Given the description of an element on the screen output the (x, y) to click on. 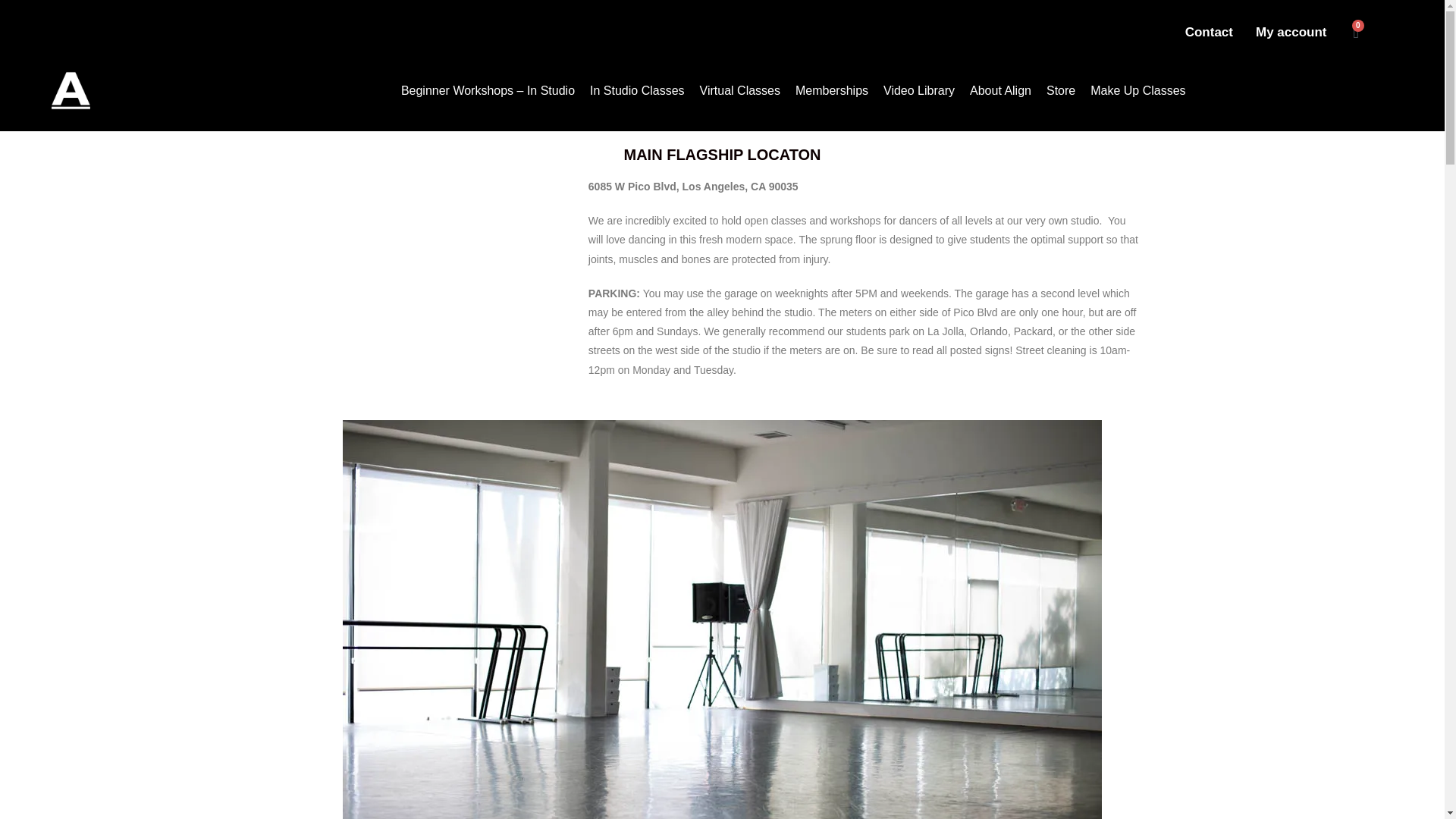
Contact (1208, 32)
Memberships (831, 90)
About Align (1000, 90)
My account (1291, 32)
6085 west pico los anagles california 90035 (438, 290)
Make Up Classes (1137, 90)
Video Library (919, 90)
In Studio Classes (637, 90)
0 (1356, 32)
Virtual Classes (740, 90)
Store (1061, 90)
